Given the description of an element on the screen output the (x, y) to click on. 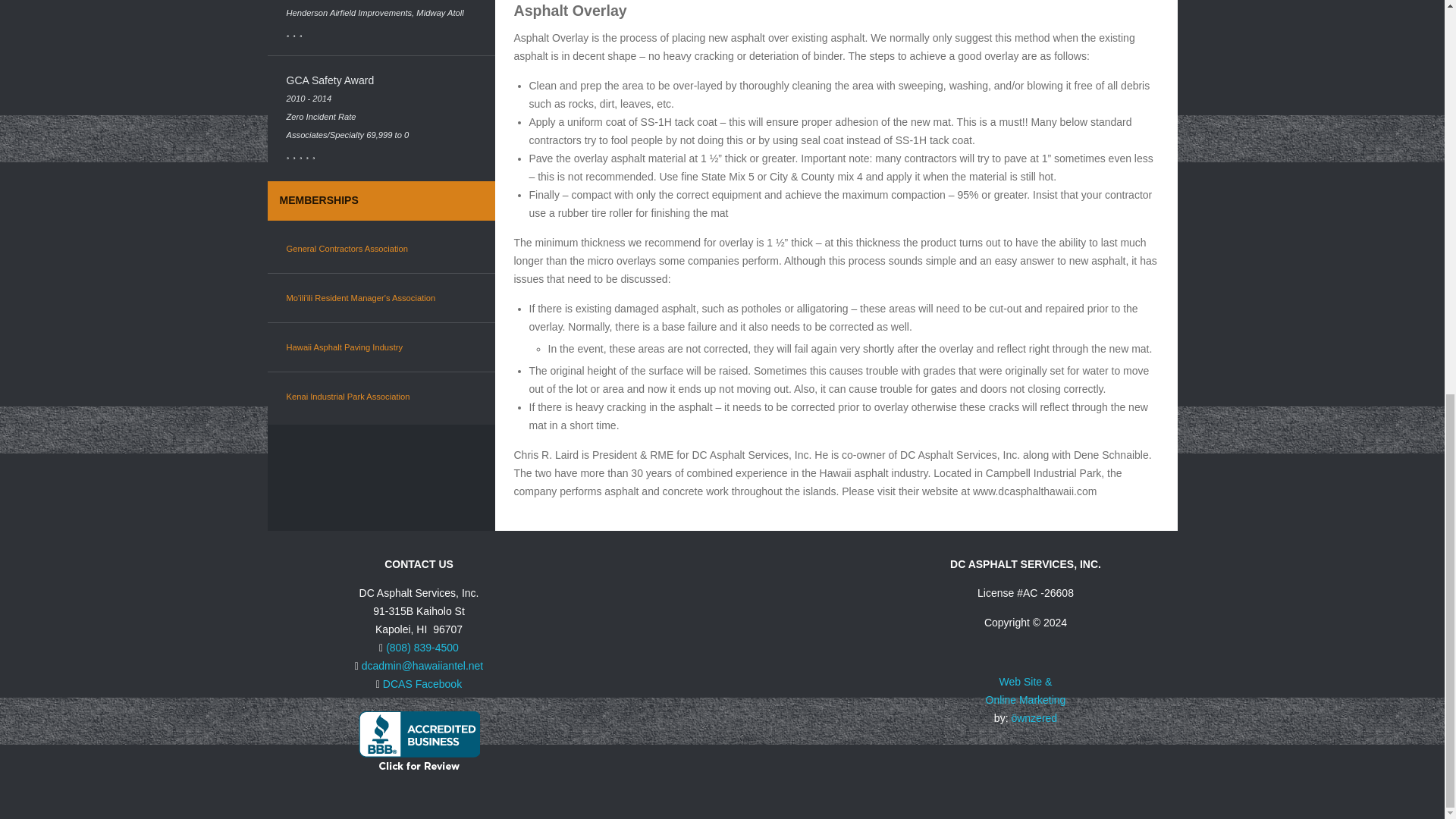
Hawaii Asphalt Paving Industry (344, 347)
Kenai Industrial Park Association (348, 396)
Mo'ili'ili Resident Manager's Association (360, 297)
General Contractors Association (346, 248)
DCAS Facebook (421, 684)
